Given the description of an element on the screen output the (x, y) to click on. 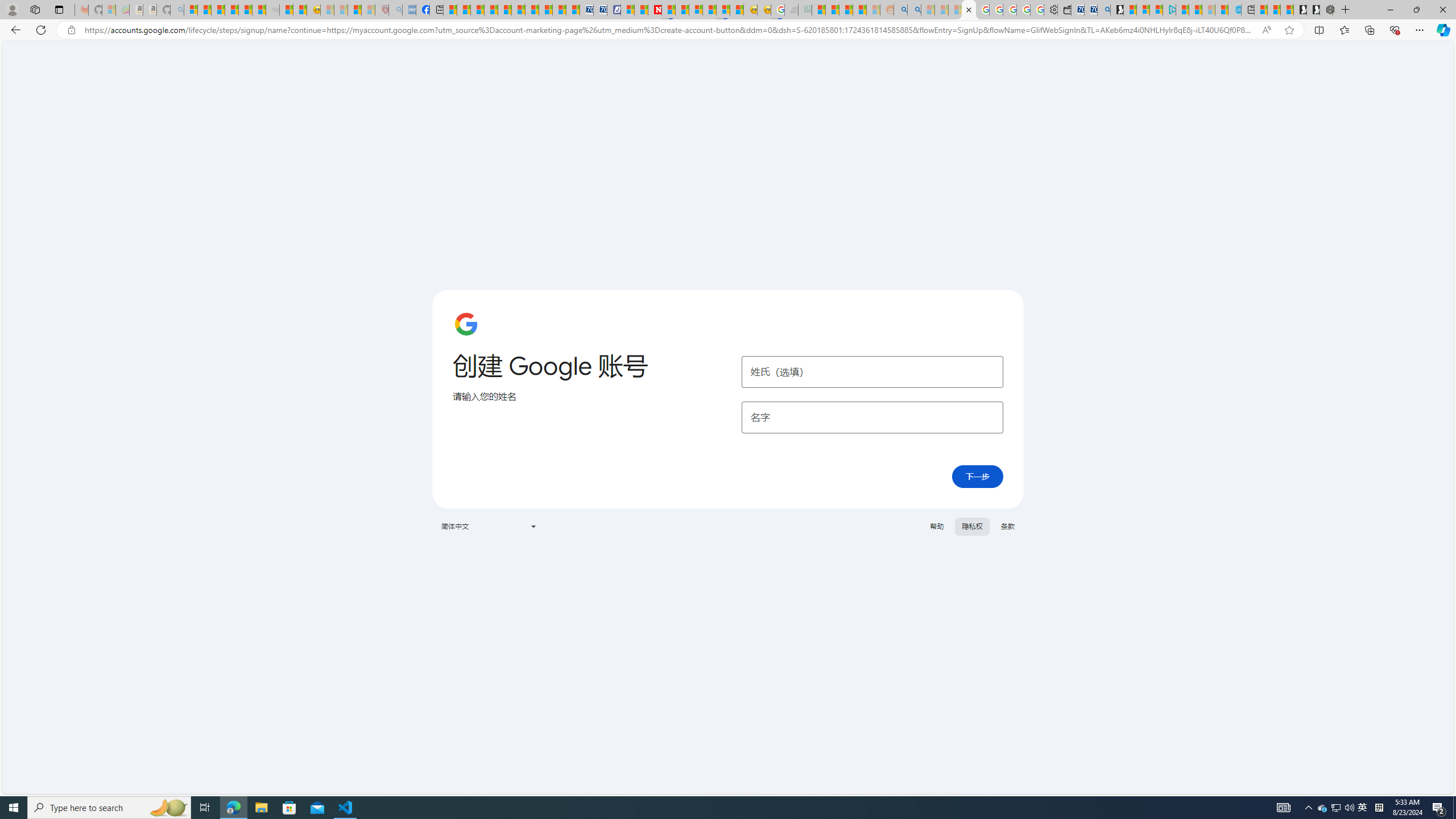
Microsoft Start - Sleeping (1208, 9)
Microsoft Start Gaming (1116, 9)
14 Common Myths Debunked By Scientific Facts (682, 9)
Stocks - MSN (258, 9)
Utah sues federal government - Search (914, 9)
World - MSN (477, 9)
